Given the description of an element on the screen output the (x, y) to click on. 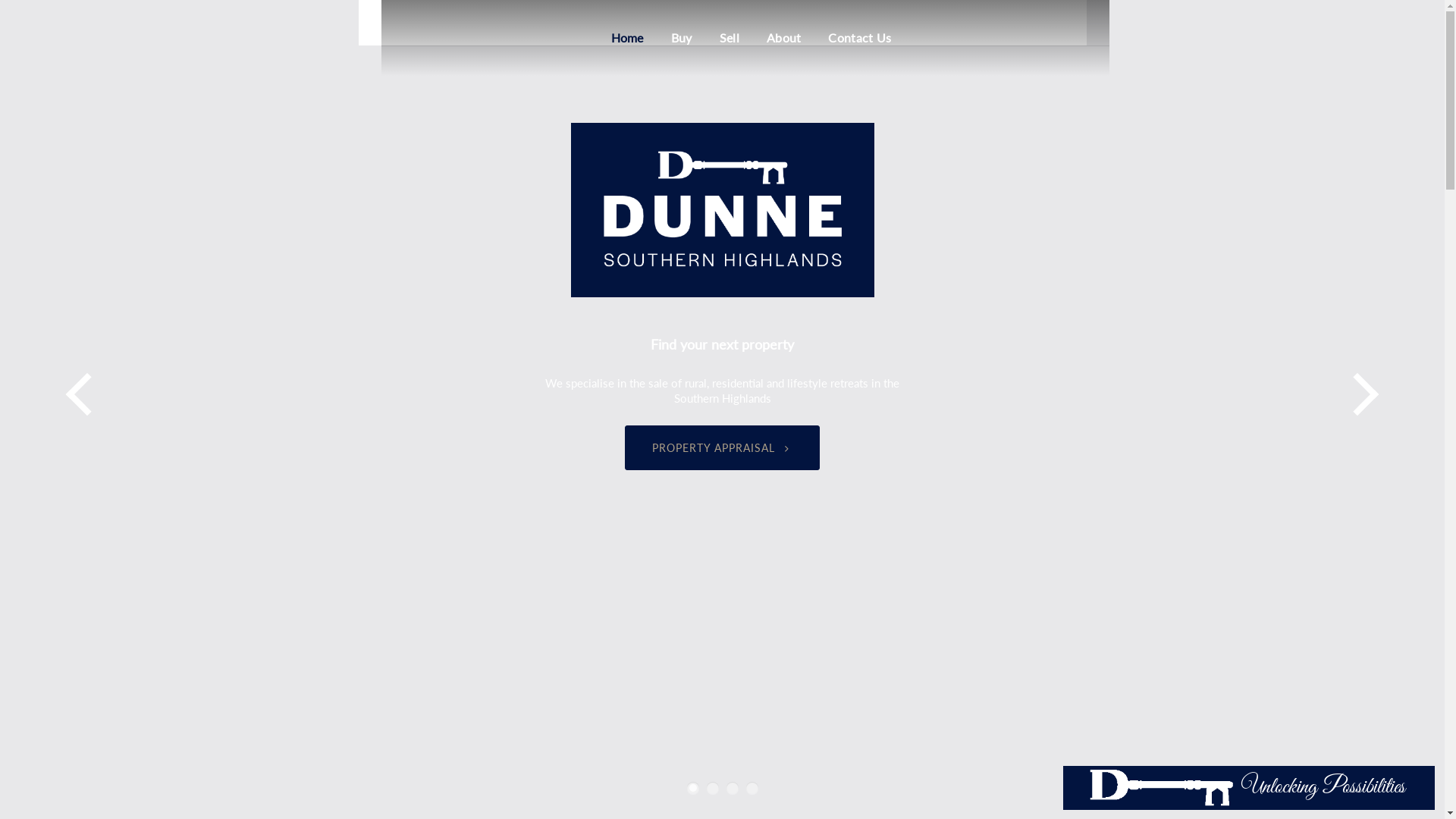
Home Element type: text (627, 37)
PROPERTY APPRAISAL Element type: text (721, 447)
About Element type: text (783, 37)
Sell Element type: text (729, 37)
Contact Us Element type: text (859, 37)
Buy Element type: text (681, 37)
